Given the description of an element on the screen output the (x, y) to click on. 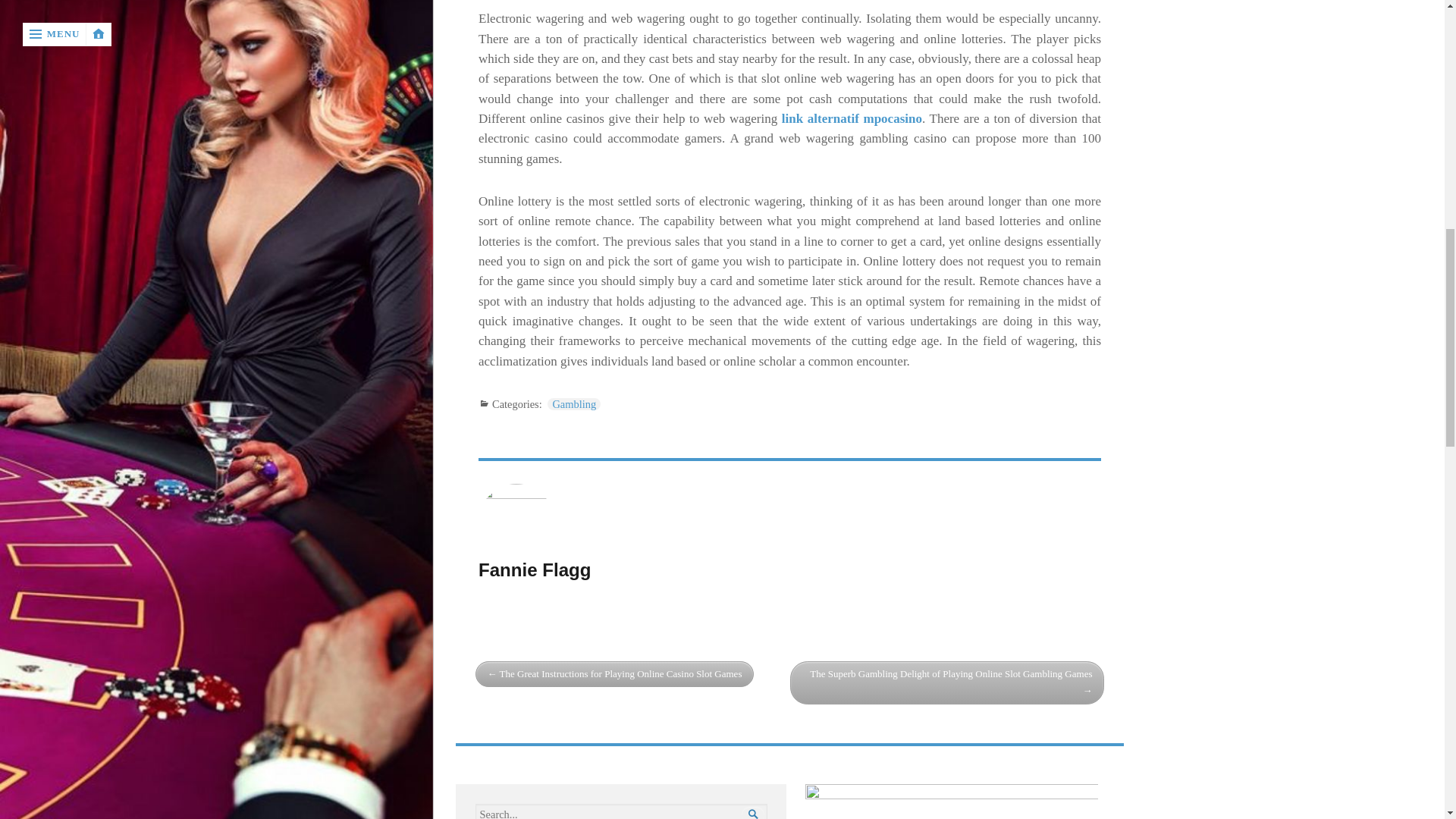
Gambling (573, 404)
The Great Instructions for Playing Online Casino Slot Games (615, 673)
link alternatif mpocasino (851, 118)
